Given the description of an element on the screen output the (x, y) to click on. 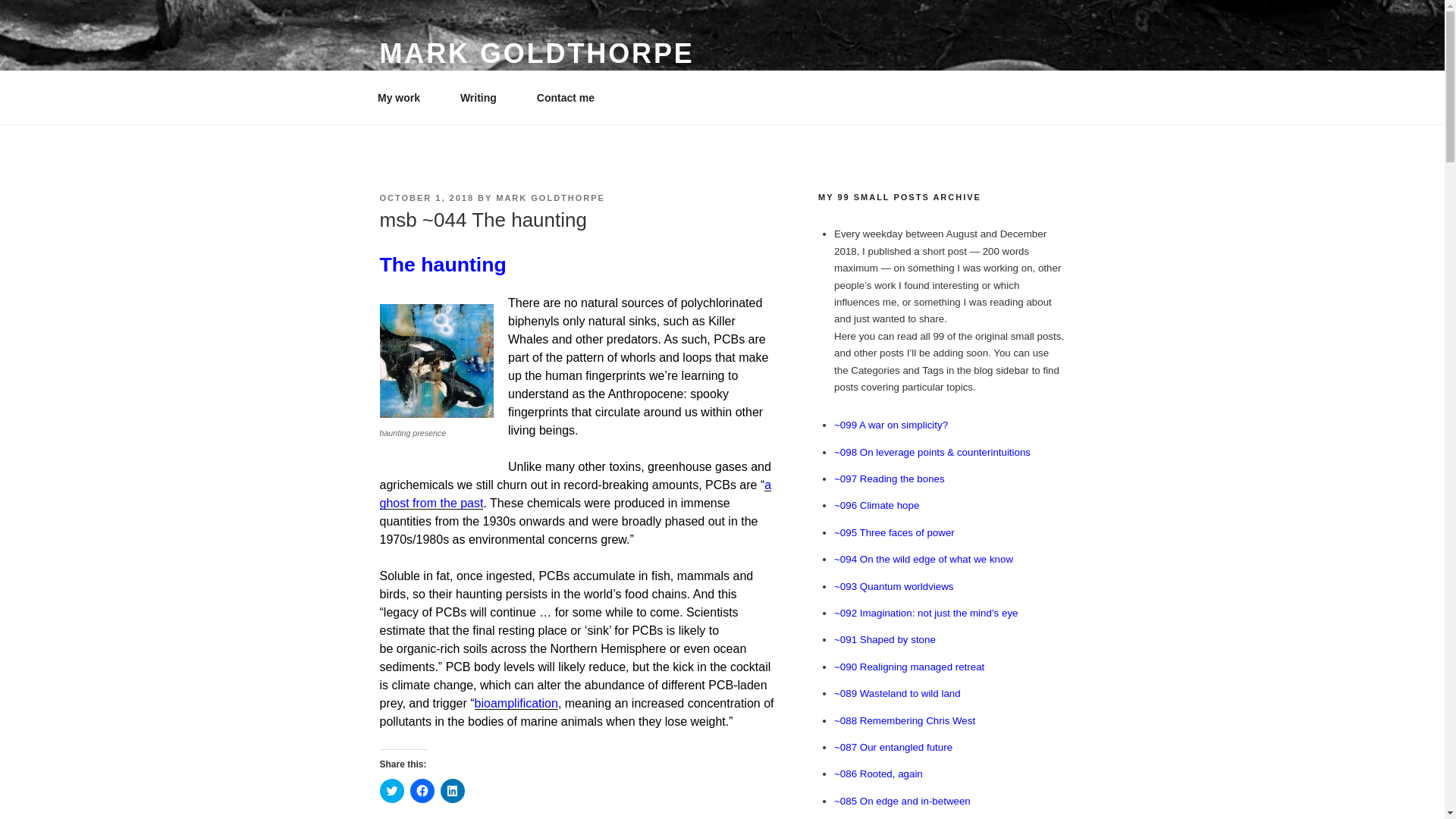
Click to share on Twitter (390, 790)
MARK GOLDTHORPE (550, 197)
Contact me (564, 97)
OCTOBER 1, 2018 (426, 197)
My work (404, 97)
Click to share on Facebook (421, 790)
MARK GOLDTHORPE (536, 52)
Writing (482, 97)
bioamplification (515, 703)
Click to share on LinkedIn (451, 790)
